Given the description of an element on the screen output the (x, y) to click on. 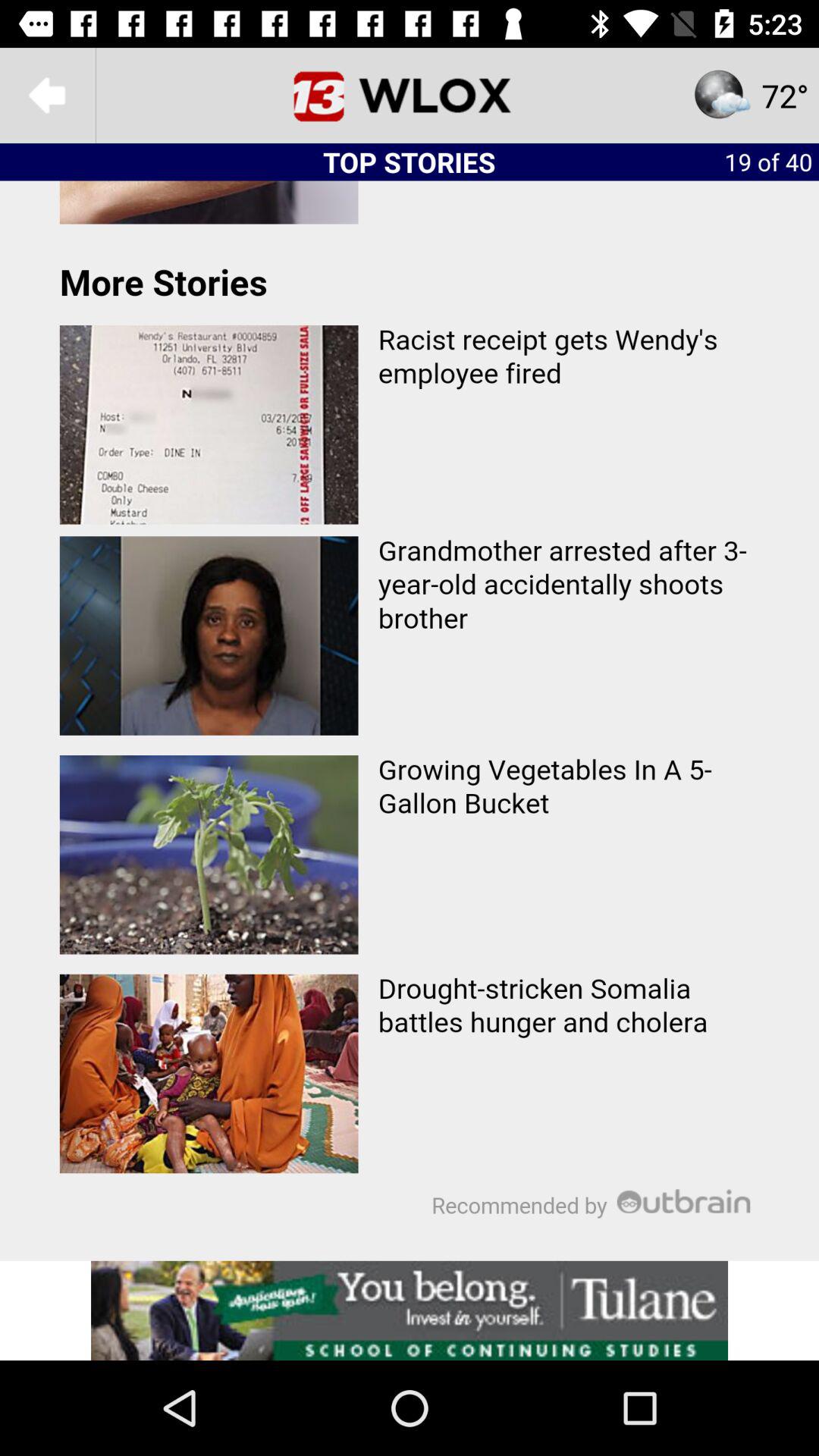
click on advertisement (409, 1310)
